Given the description of an element on the screen output the (x, y) to click on. 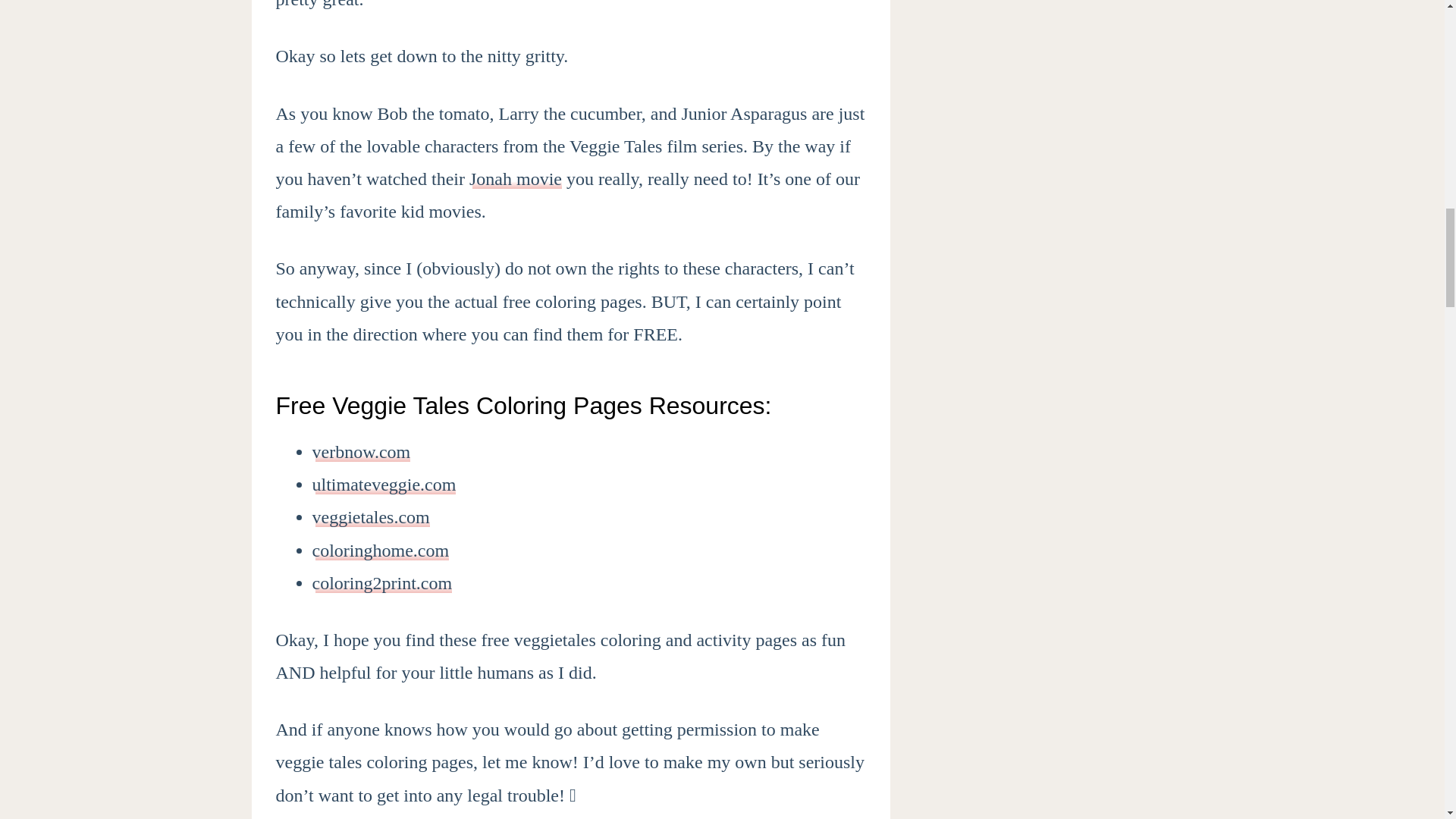
veggietales.com (371, 516)
coloringhome.com (381, 550)
coloring2print.com (382, 582)
Jonah movie (515, 178)
verbnow.com (361, 451)
ultimateveggie.com (385, 484)
